Given the description of an element on the screen output the (x, y) to click on. 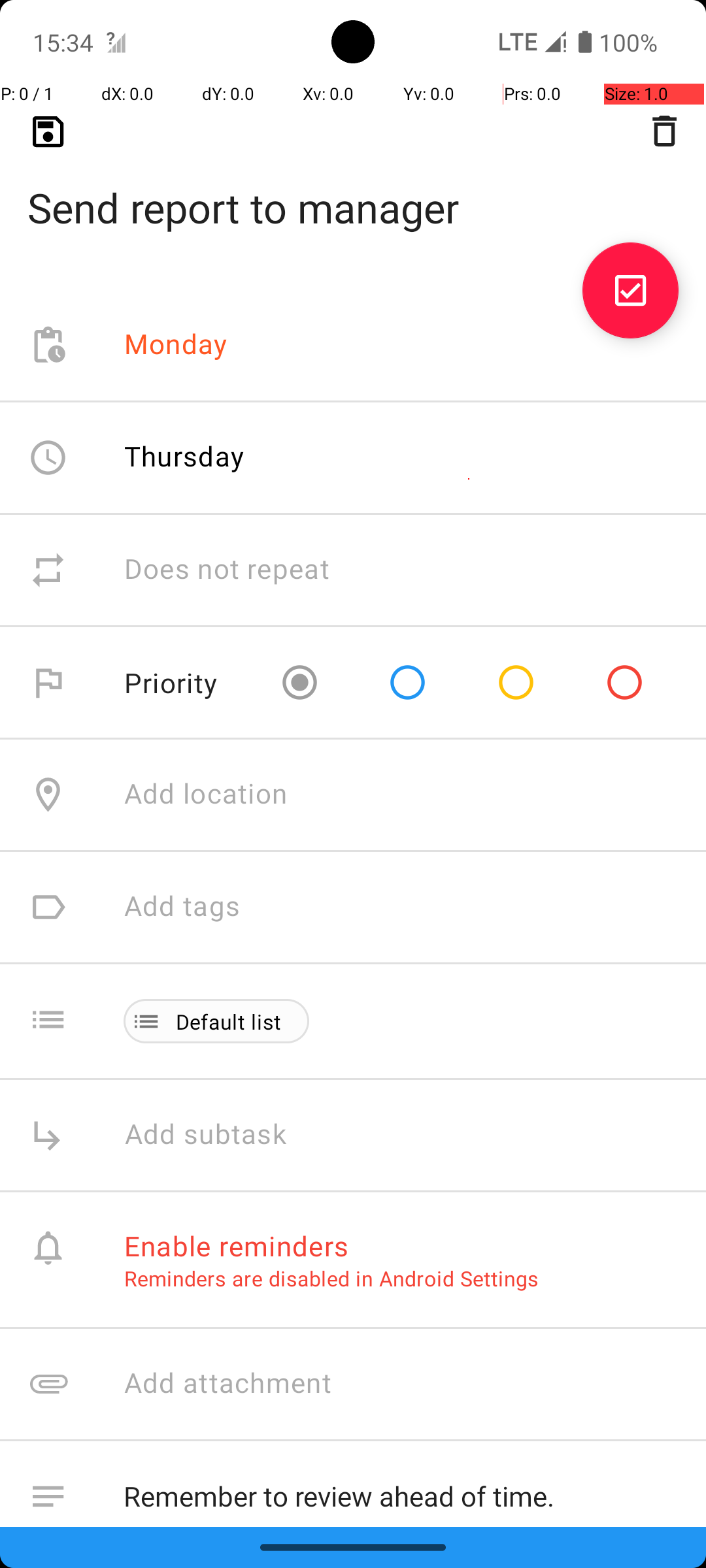
Send report to manager Element type: android.widget.EditText (353, 186)
Remember to review ahead of time. Element type: android.widget.EditText (400, 1493)
